Given the description of an element on the screen output the (x, y) to click on. 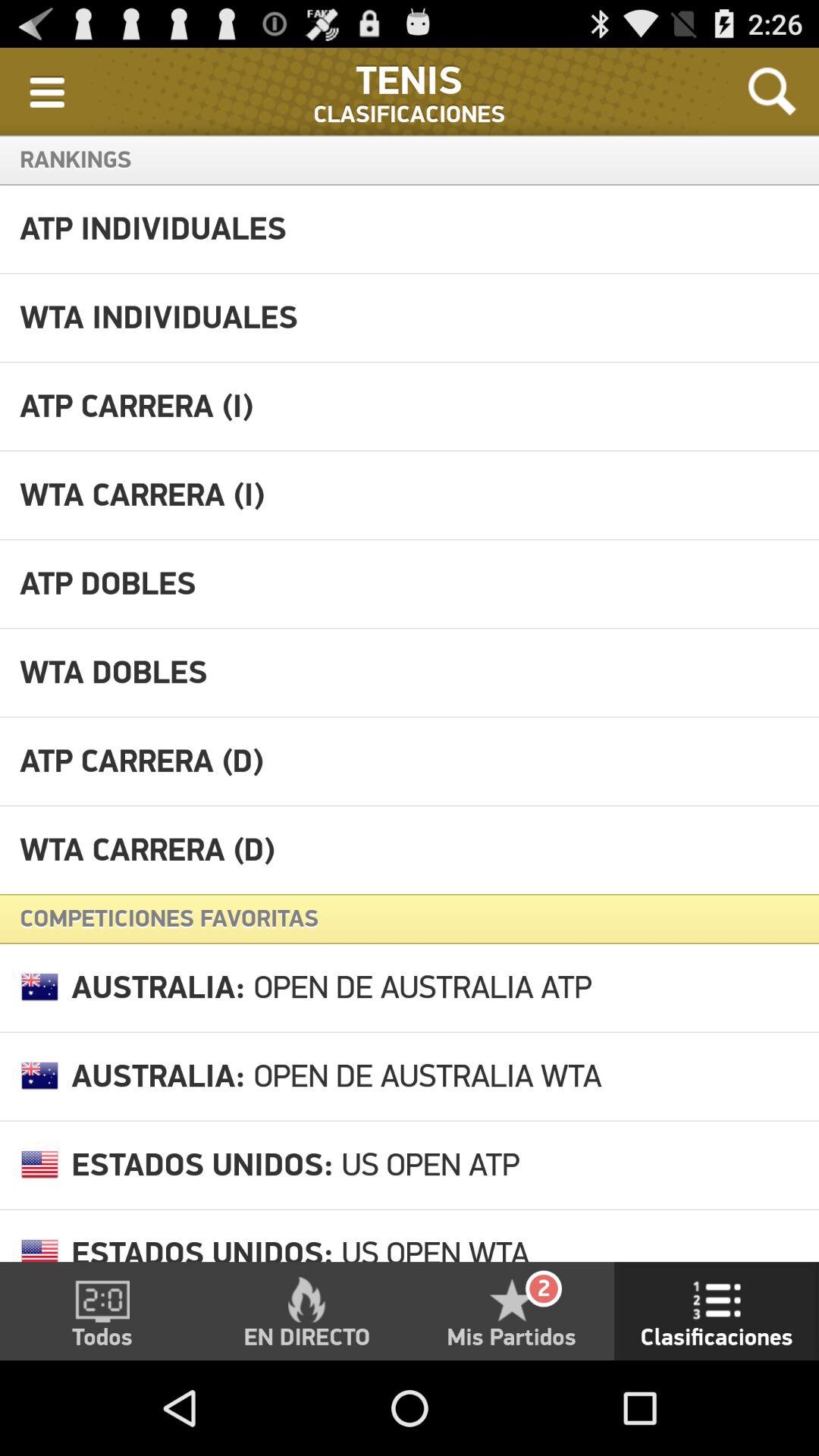
turn on the item next to the clasificaciones item (46, 91)
